Given the description of an element on the screen output the (x, y) to click on. 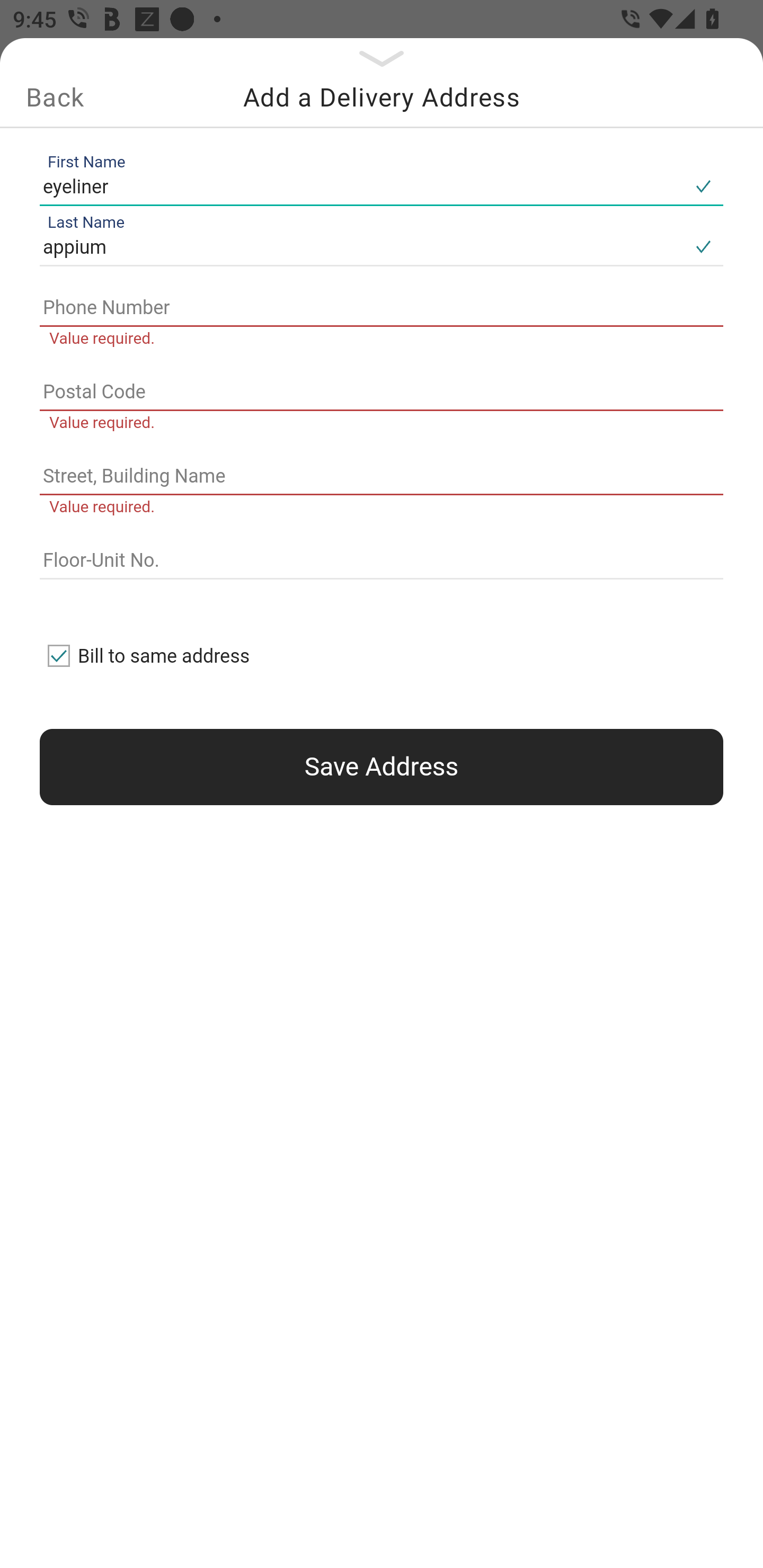
Back (54, 96)
Add a Delivery Address (381, 96)
eyeliner (361, 186)
appium (361, 247)
Save Address (381, 767)
